Given the description of an element on the screen output the (x, y) to click on. 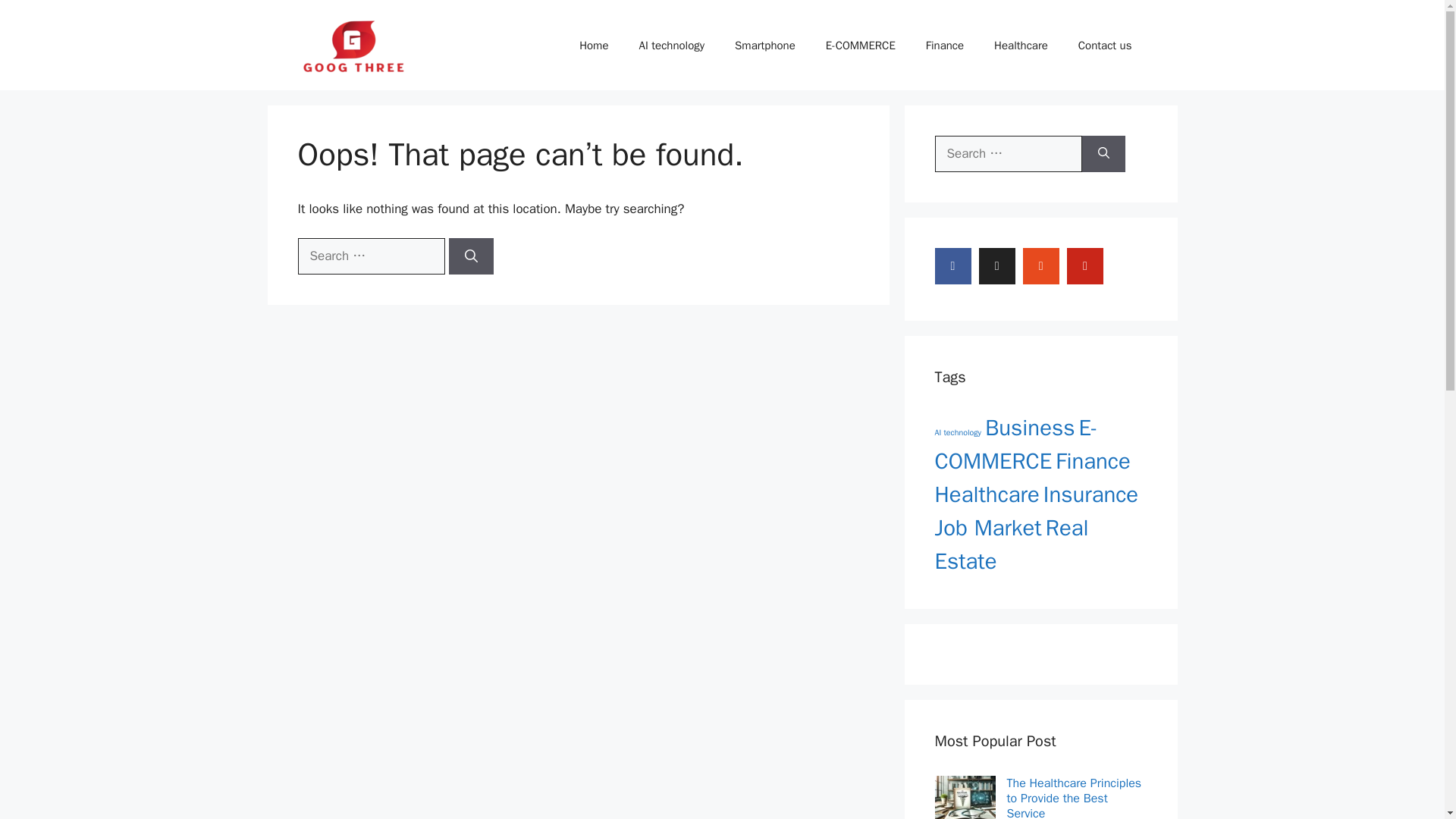
Facebook (952, 265)
Real Estate (1010, 544)
AI technology (671, 44)
Healthcare (1020, 44)
Business (1029, 428)
Finance (1092, 461)
Smartphone (764, 44)
E-COMMERCE (860, 44)
pinterest (1085, 265)
The Healthcare Principles to Provide the Best Service (1077, 797)
Search for: (370, 256)
Pinterest (1085, 265)
reddit (1041, 265)
Home (593, 44)
E-COMMERCE (1015, 444)
